Given the description of an element on the screen output the (x, y) to click on. 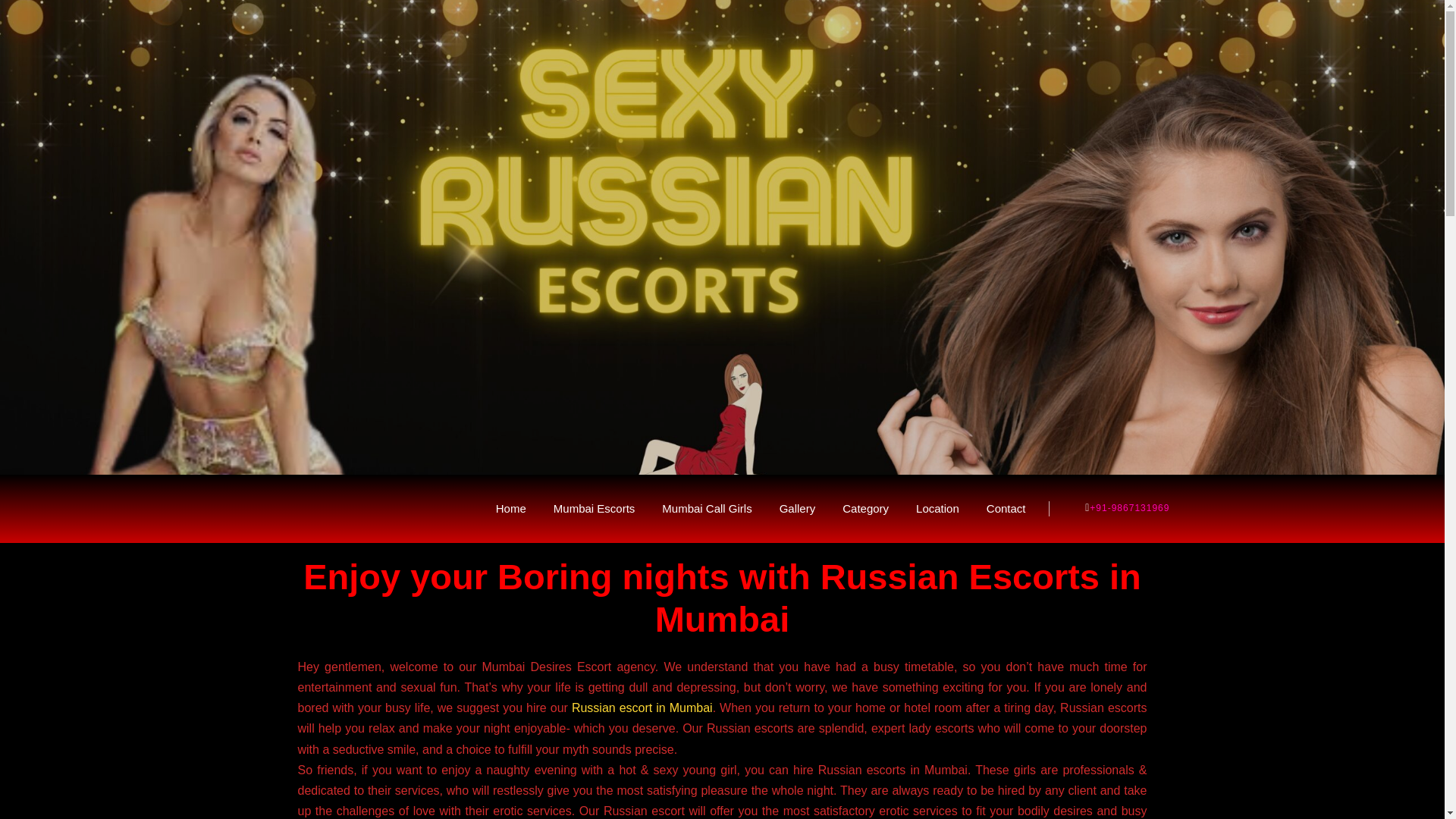
Mumbai Escorts (593, 508)
Home (510, 508)
Mumbai Call Girls (706, 508)
Gallery (796, 508)
Contact (1006, 508)
Category (865, 508)
Location (937, 508)
Russian escort in Mumbai (642, 707)
